Given the description of an element on the screen output the (x, y) to click on. 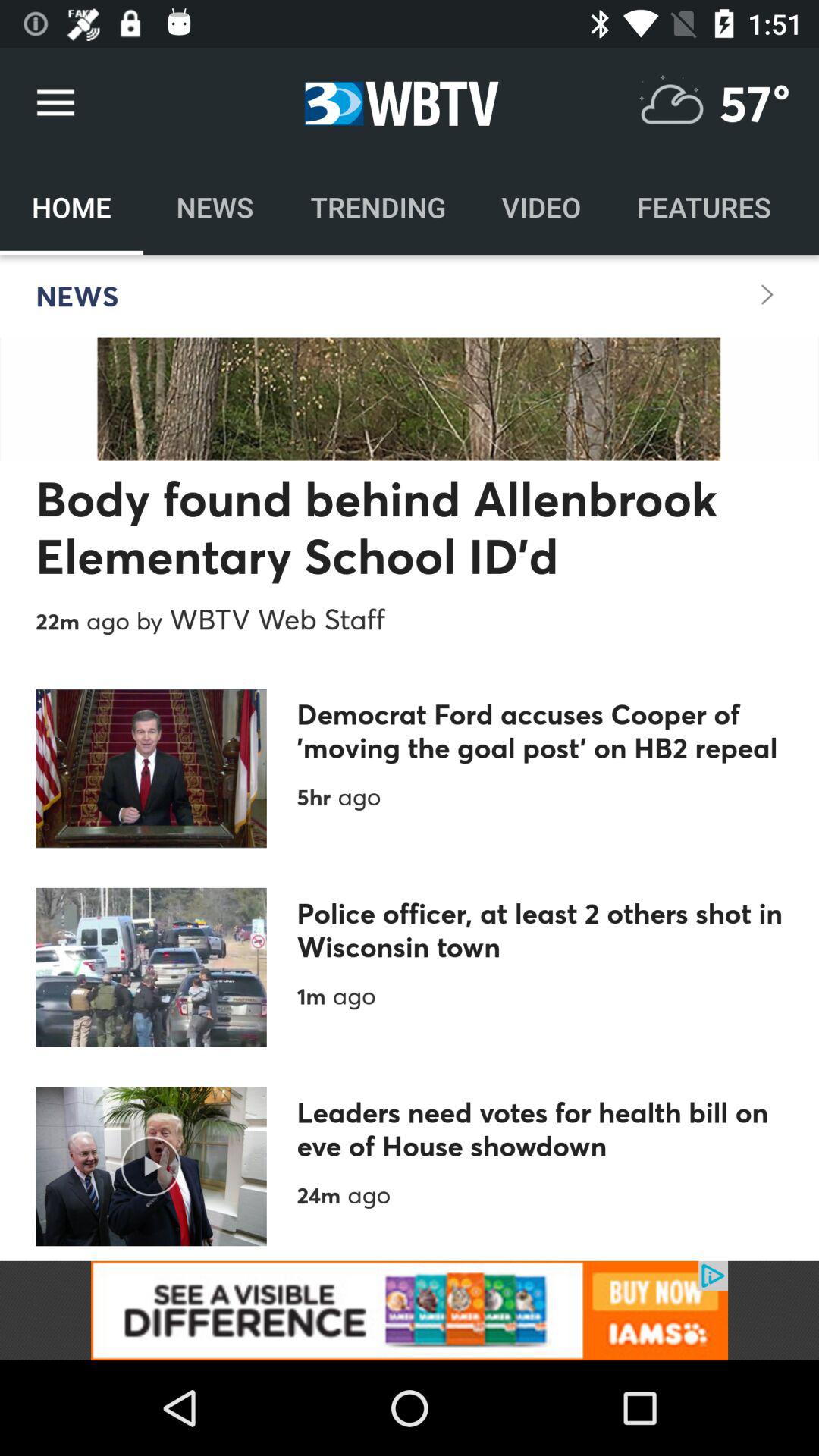
go to advertisement (409, 1310)
